Given the description of an element on the screen output the (x, y) to click on. 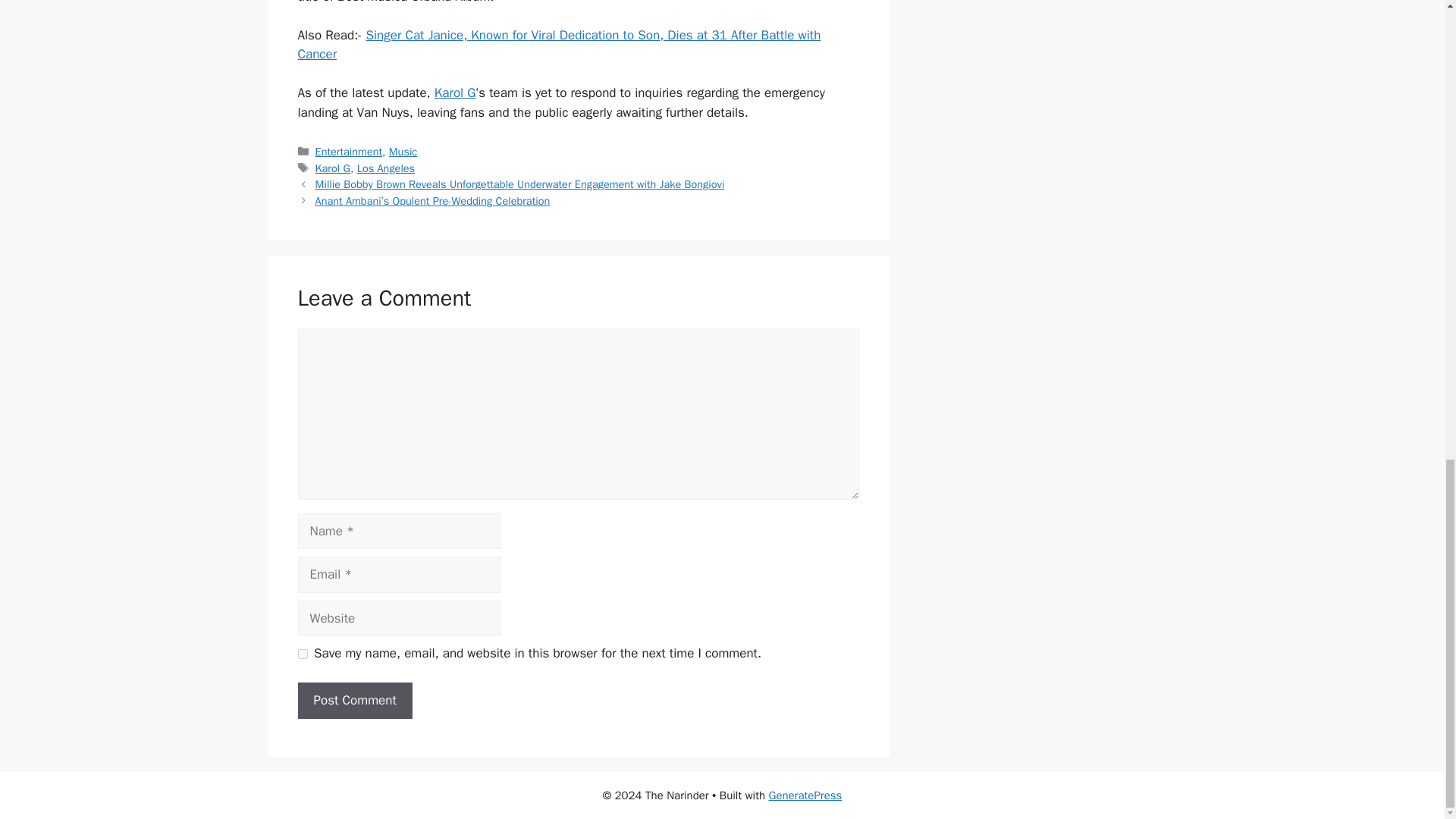
Karol G (332, 168)
Los Angeles (385, 168)
Post Comment (354, 700)
Entertainment (348, 151)
Karol G (454, 92)
yes (302, 654)
Music (402, 151)
